Given the description of an element on the screen output the (x, y) to click on. 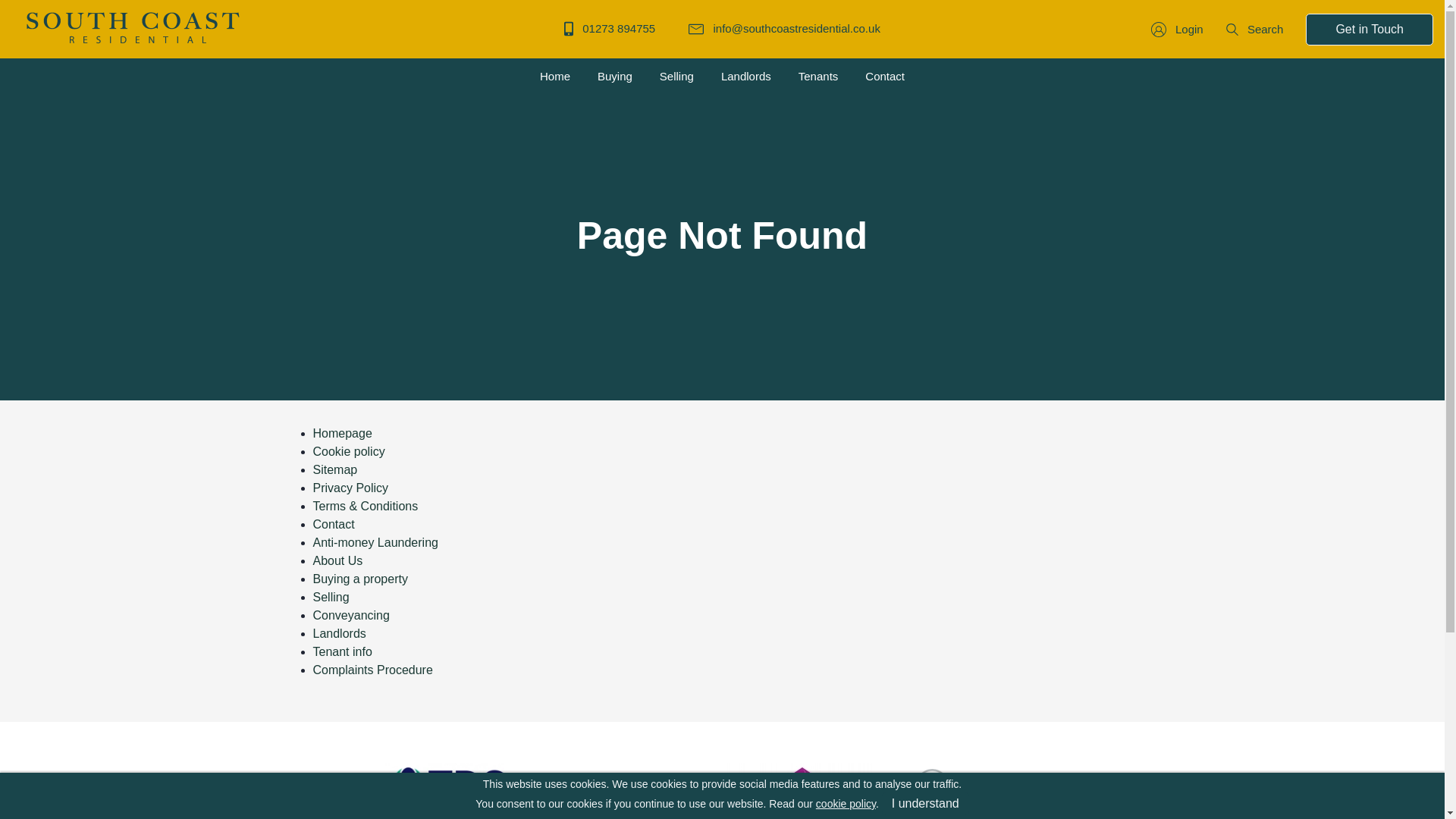
Home (555, 76)
Buying (615, 76)
Search (1254, 29)
01273 894755 (609, 28)
Selling (331, 595)
Landlords (745, 76)
Sitemap (334, 468)
Privacy Policy (350, 486)
Cookie policy (348, 450)
About Us (337, 559)
Buying a property (360, 577)
Homepage (342, 431)
Conveyancing (350, 614)
Contact (885, 76)
Tenant info (342, 650)
